Given the description of an element on the screen output the (x, y) to click on. 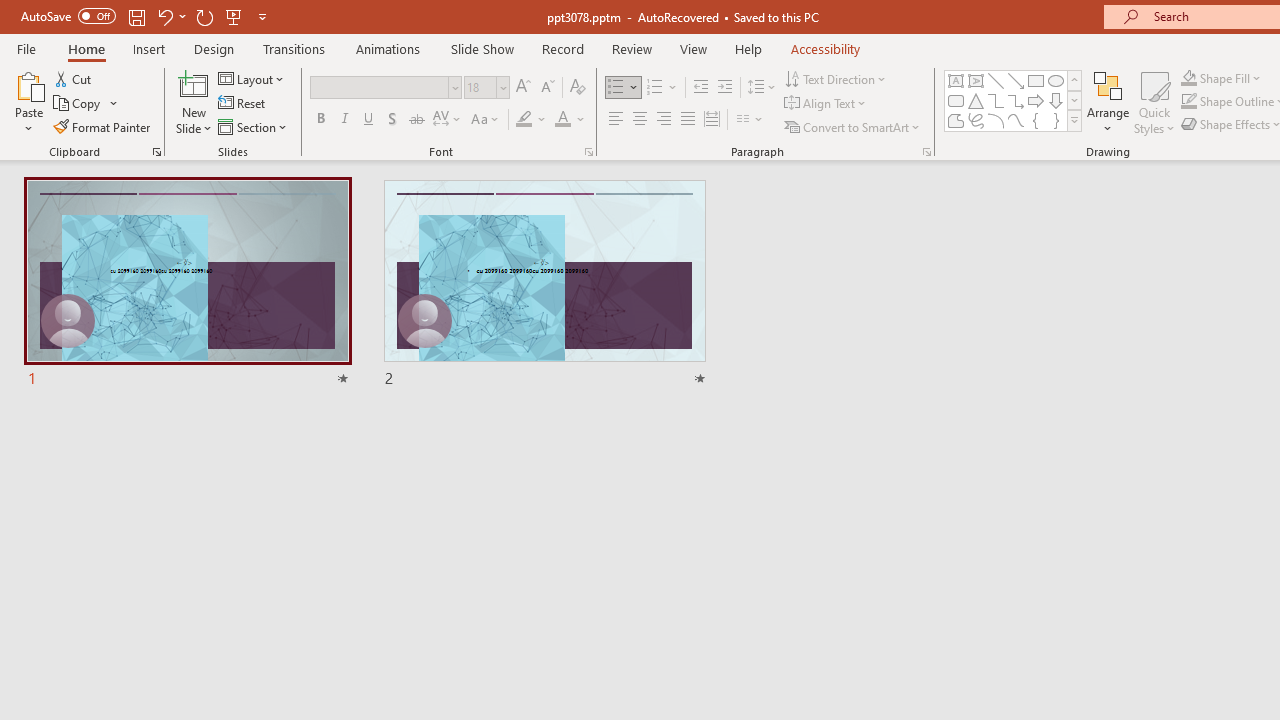
Connector: Elbow (995, 100)
Format Painter (103, 126)
Shape Outline Green, Accent 1 (1188, 101)
Quick Styles (1154, 102)
Arrow: Right (1035, 100)
Center (639, 119)
Italic (344, 119)
Increase Indent (725, 87)
